Given the description of an element on the screen output the (x, y) to click on. 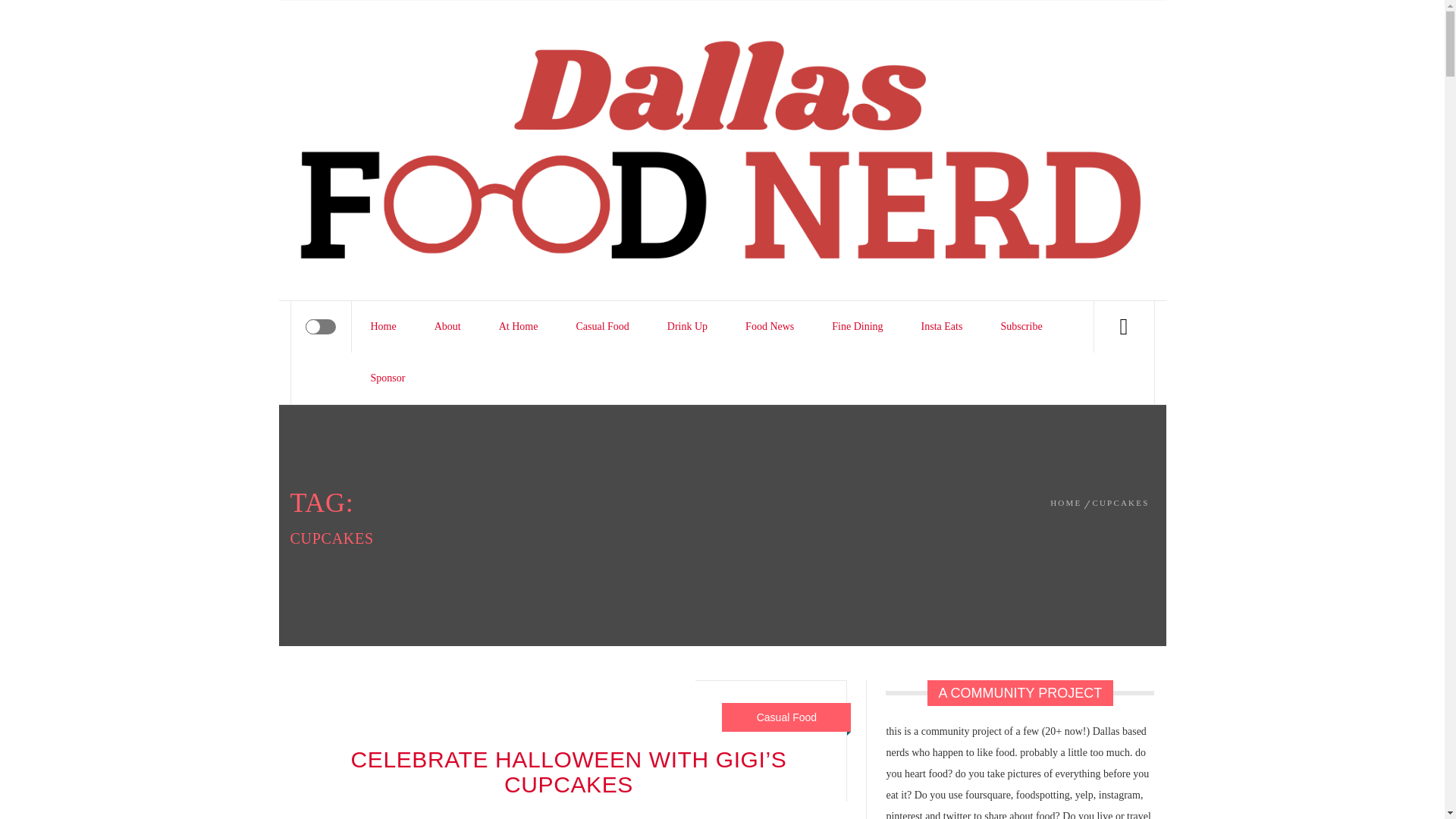
CUPCAKES (1120, 501)
Casual Food (786, 717)
At Home (518, 326)
Drink Up (686, 326)
Casual Food (601, 326)
About (447, 326)
Food News (769, 326)
HOME (1067, 501)
Fine Dining (856, 326)
Subscribe (1021, 326)
